Given the description of an element on the screen output the (x, y) to click on. 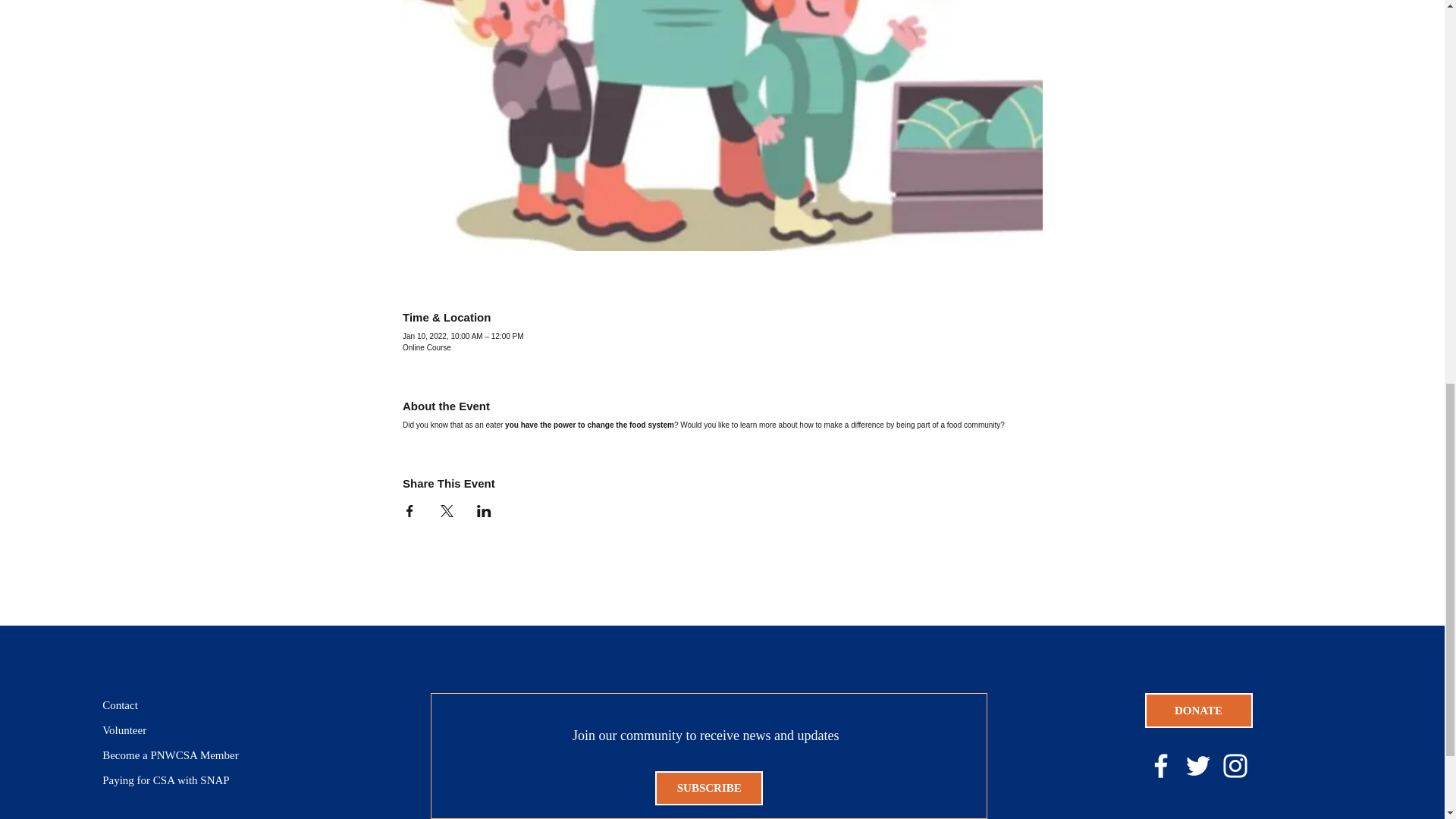
DONATE (1198, 710)
Paying for CSA with SNAP (180, 780)
Volunteer (180, 730)
Contact (180, 705)
Become a PNWCSA Member (180, 755)
SUBSCRIBE (708, 788)
